Given the description of an element on the screen output the (x, y) to click on. 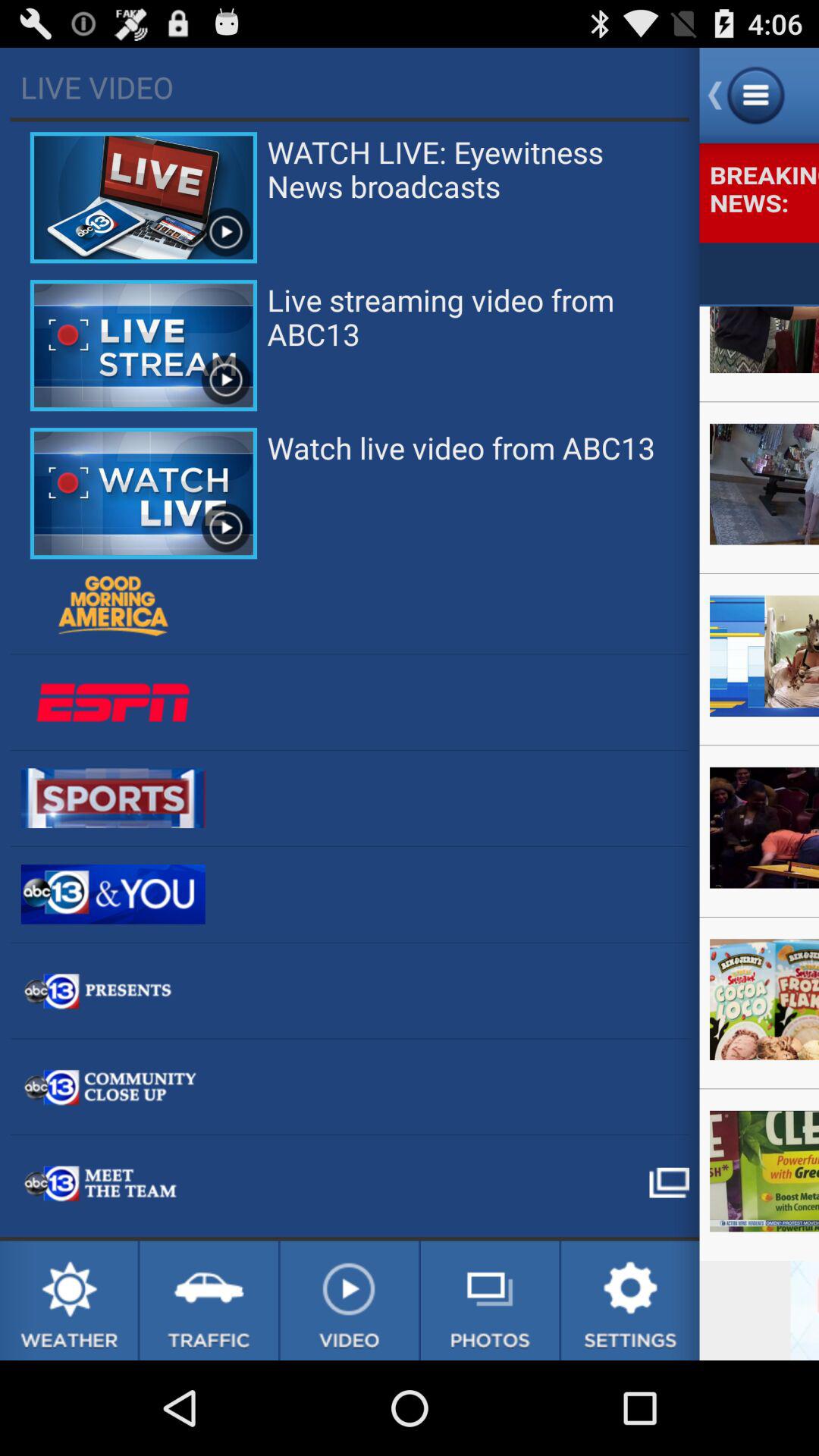
weather page (68, 1300)
